Given the description of an element on the screen output the (x, y) to click on. 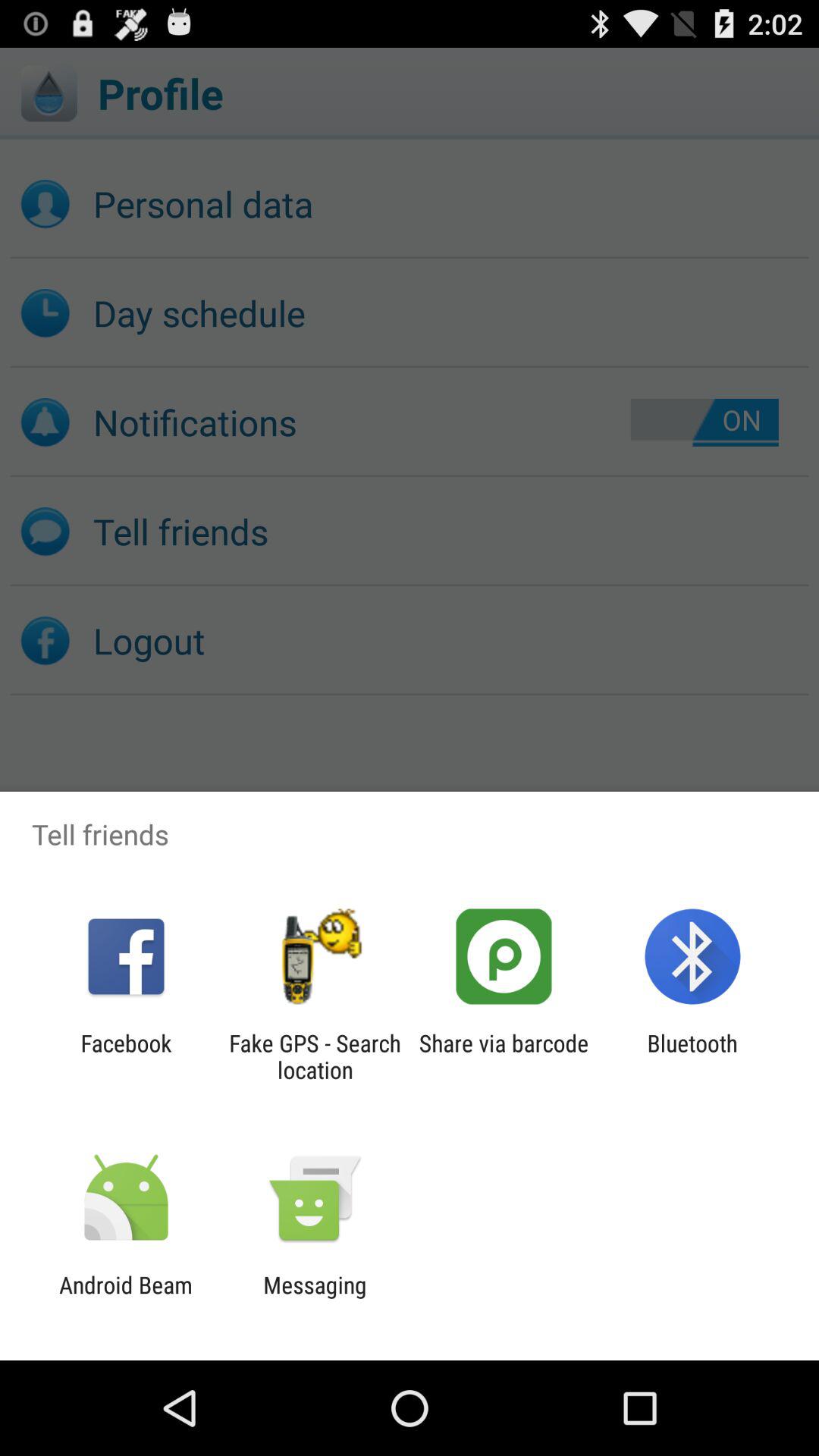
choose the item next to the messaging app (125, 1298)
